Given the description of an element on the screen output the (x, y) to click on. 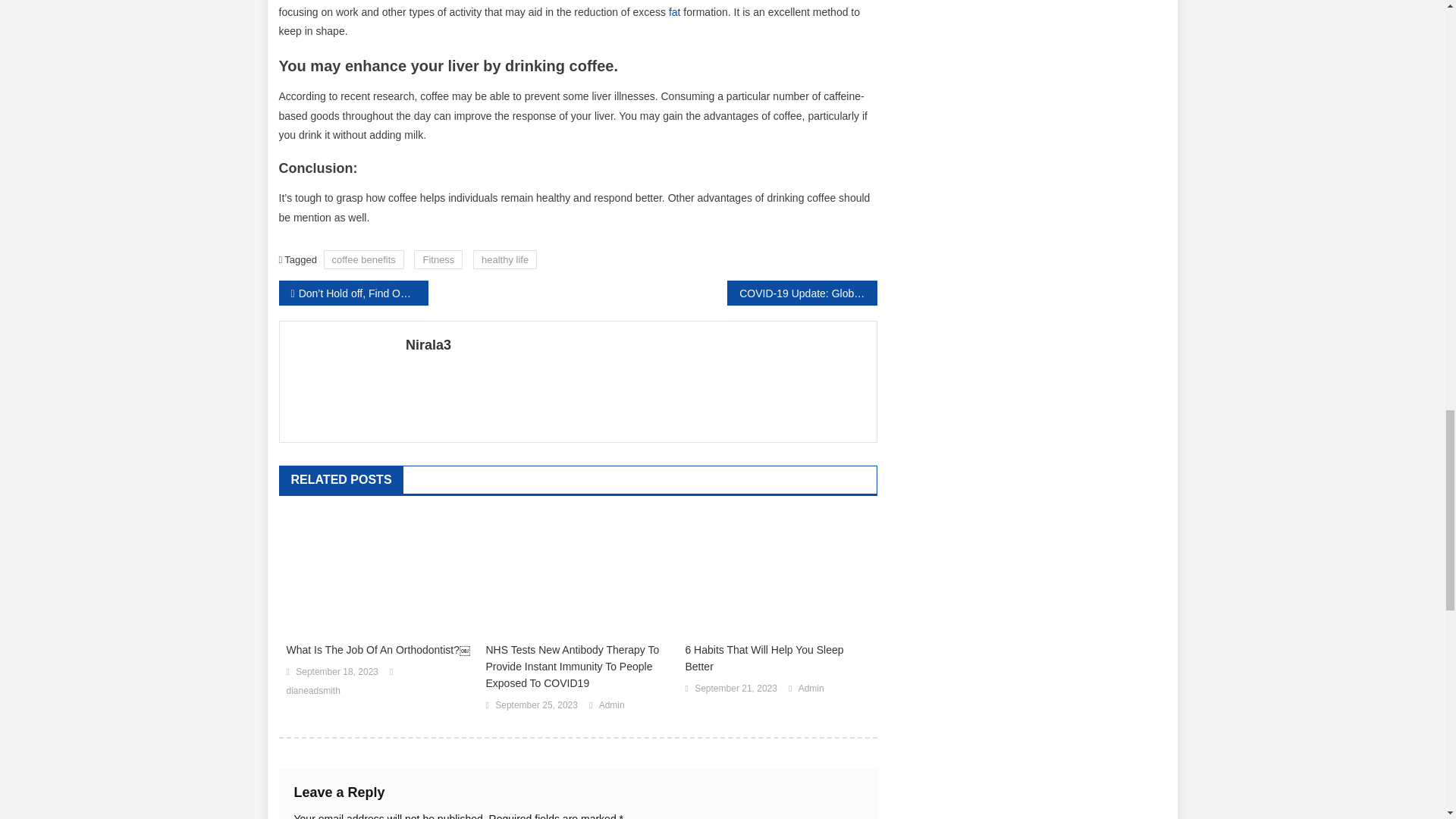
September 18, 2023 (336, 672)
Fitness (438, 259)
coffee benefits (363, 259)
fat (675, 11)
healthy life (505, 259)
dianeadsmith (313, 691)
Nirala3 (635, 344)
